Given the description of an element on the screen output the (x, y) to click on. 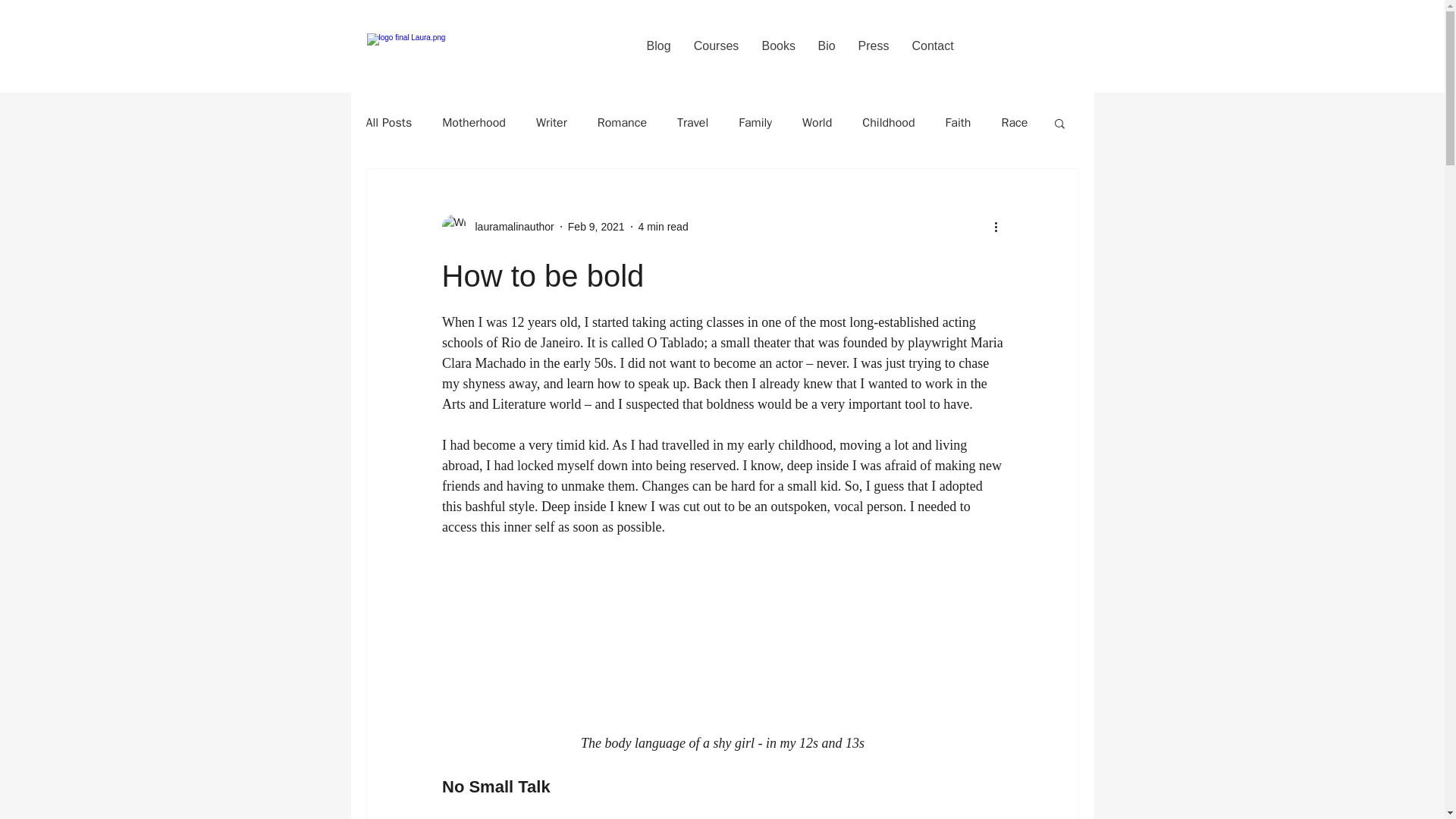
lauramalinauthor (509, 226)
World (816, 123)
Writer (551, 123)
Motherhood (473, 123)
Faith (957, 123)
Travel (692, 123)
Blog (658, 45)
Contact (933, 45)
Romance (621, 123)
Race (1014, 123)
